Given the description of an element on the screen output the (x, y) to click on. 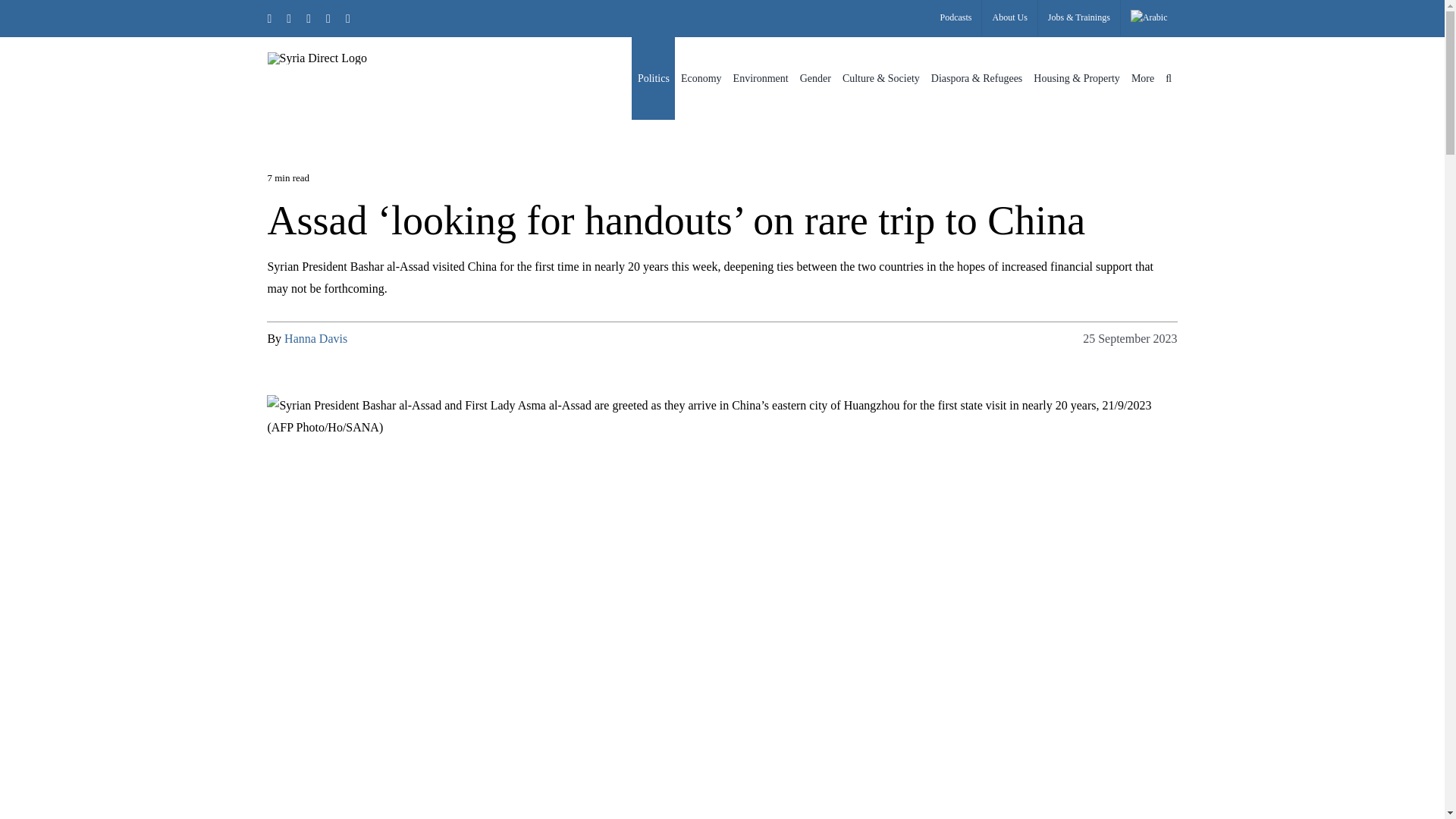
Podcasts (955, 18)
About Us (1008, 18)
